Given the description of an element on the screen output the (x, y) to click on. 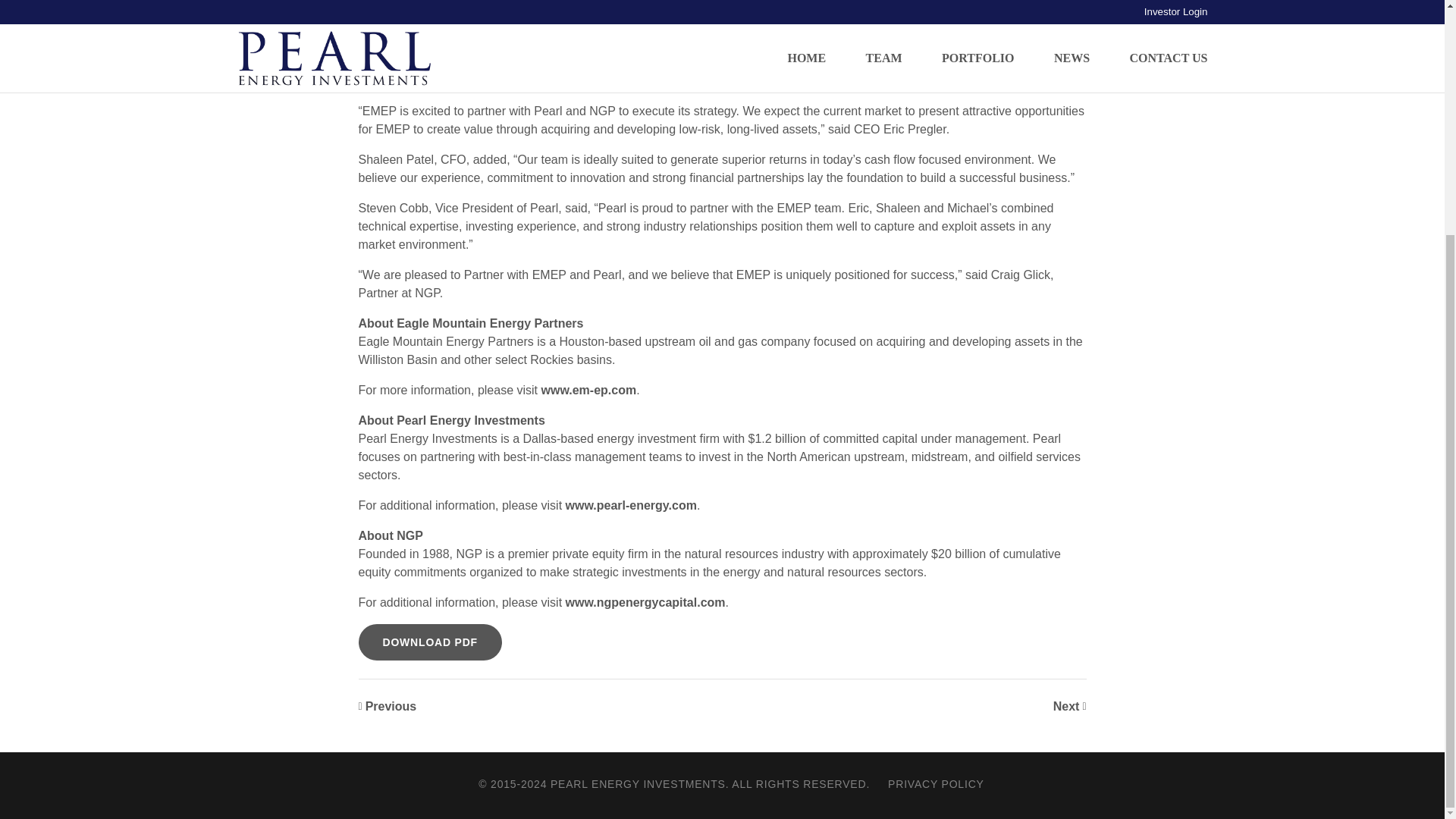
Privacy Policy  (936, 784)
DOWNLOAD PDF (429, 642)
www.pearl-energy.com (631, 504)
www.ngpenergycapital.com (645, 602)
PR-News-Pearl-Energy-Eagle-Mountain-Energy.pdf (429, 642)
Next (1069, 706)
PRIVACY POLICY (936, 784)
www.em-ep.com (588, 390)
Previous (387, 706)
